Given the description of an element on the screen output the (x, y) to click on. 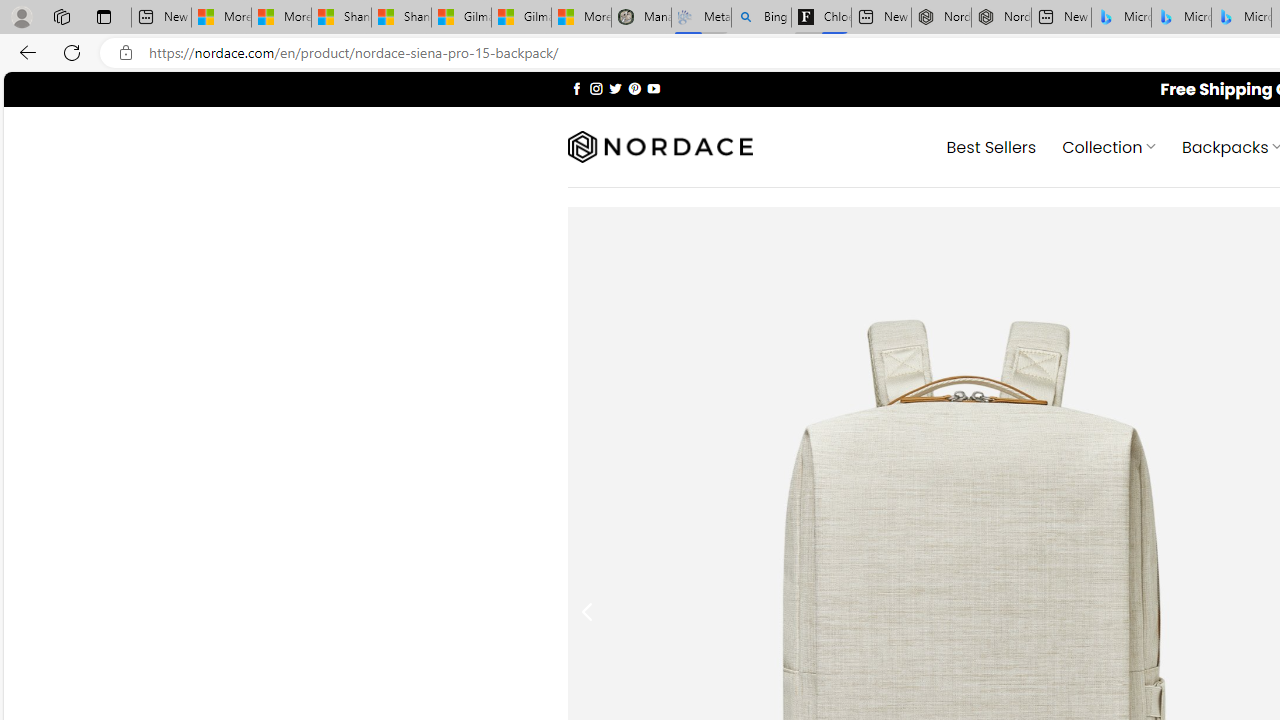
Personal Profile (21, 16)
Nordace (659, 147)
Follow on Pinterest (634, 88)
Tab actions menu (104, 16)
Follow on Instagram (596, 88)
 Best Sellers (990, 146)
  Best Sellers (990, 146)
Follow on YouTube (653, 88)
Chloe Sorvino (821, 17)
Nordace - #1 Japanese Best-Seller - Siena Smart Backpack (1000, 17)
Follow on Twitter (615, 88)
Shanghai, China weather forecast | Microsoft Weather (401, 17)
